Given the description of an element on the screen output the (x, y) to click on. 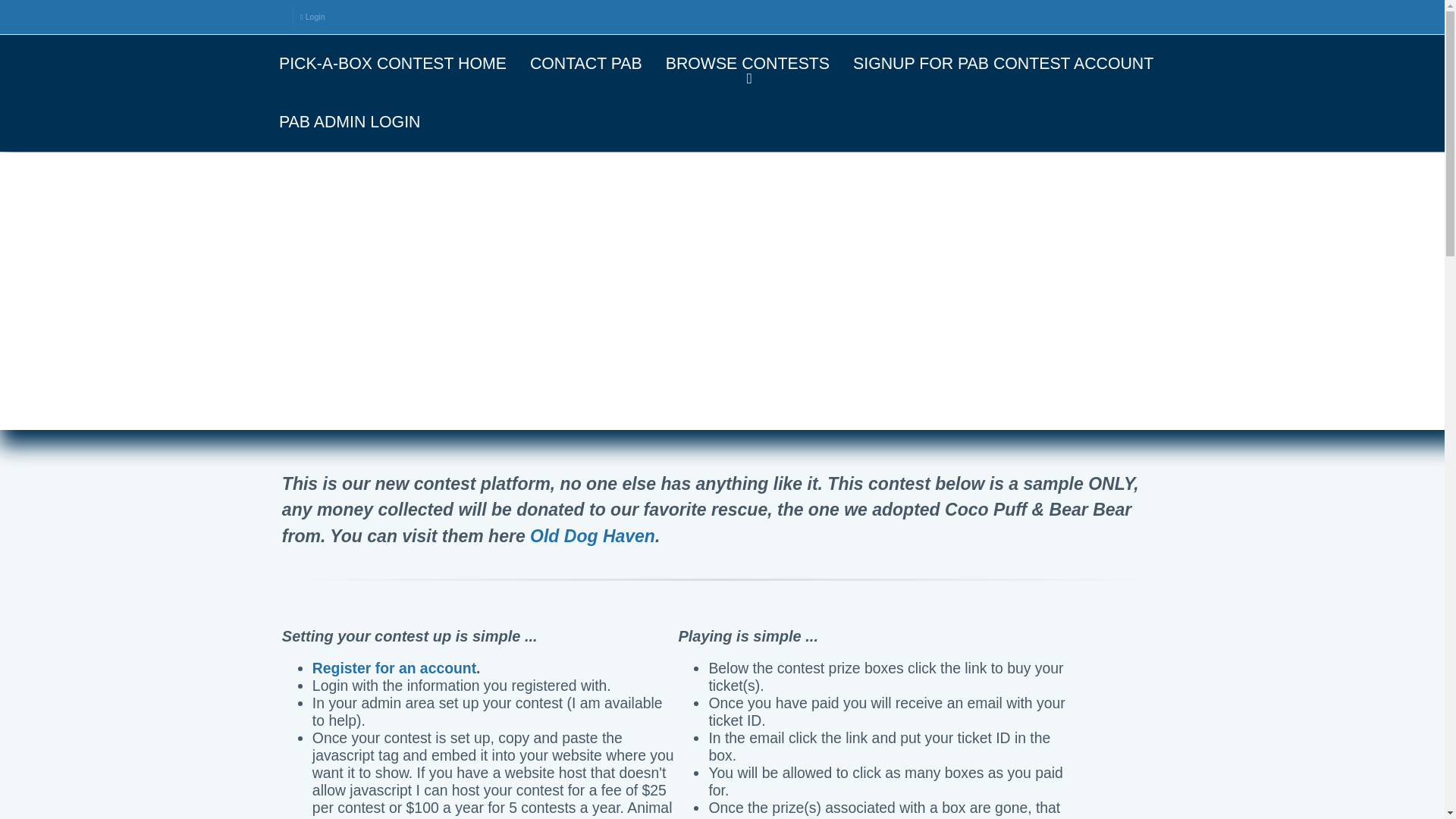
CONTACT PAB (585, 64)
contact me (514, 817)
Login (312, 16)
SIGNUP FOR PAB CONTEST ACCOUNT (1003, 64)
PICK-A-BOX CONTEST HOME (392, 64)
Register for an account (394, 668)
BROWSE CONTESTS (747, 64)
PAB ADMIN LOGIN (348, 122)
Old Dog Haven (592, 536)
